Given the description of an element on the screen output the (x, y) to click on. 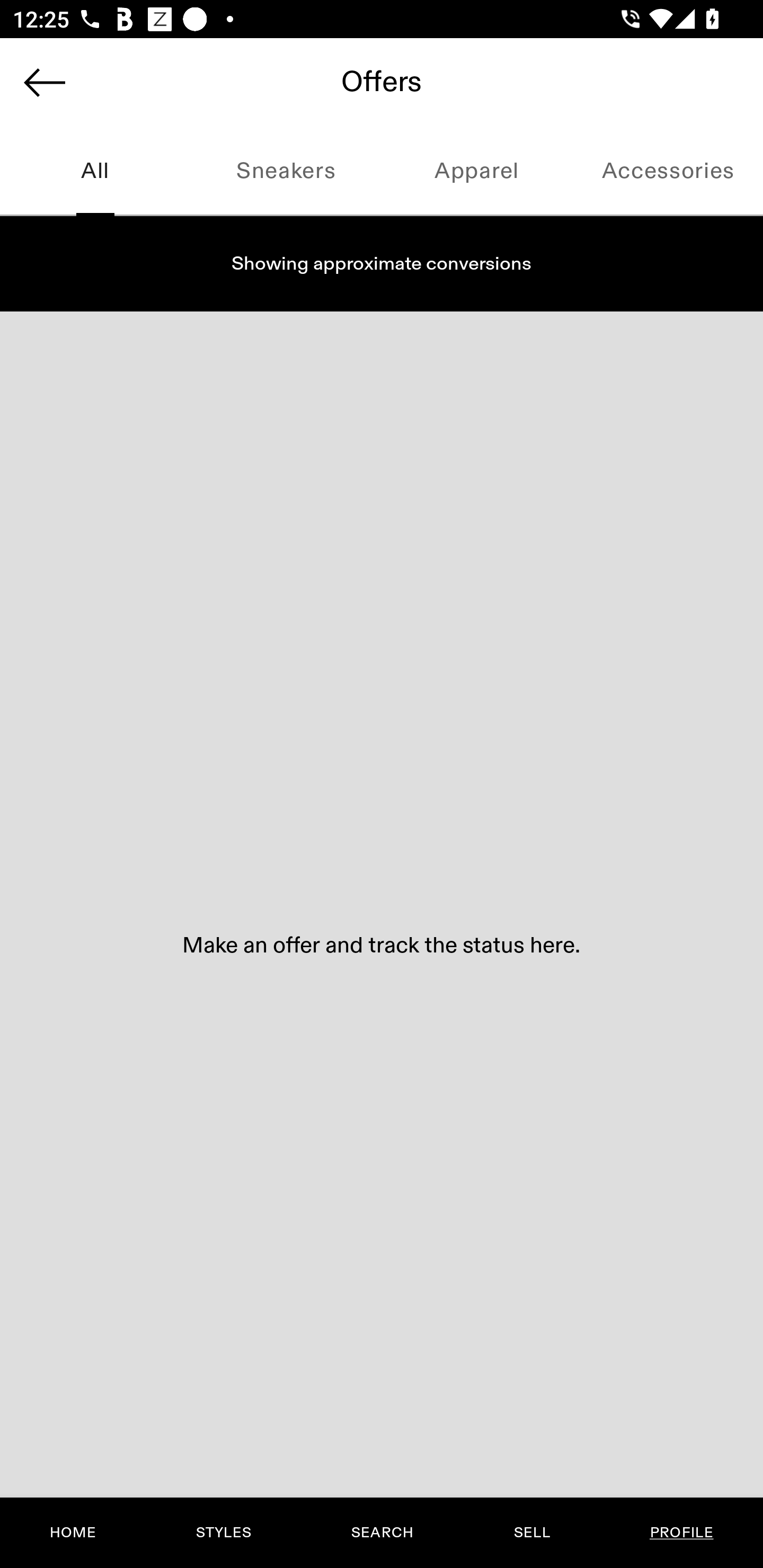
Sneakers (285, 171)
Apparel (476, 171)
Accessories (667, 171)
HOME (72, 1532)
STYLES (222, 1532)
SEARCH (381, 1532)
SELL (531, 1532)
PROFILE (681, 1532)
